Given the description of an element on the screen output the (x, y) to click on. 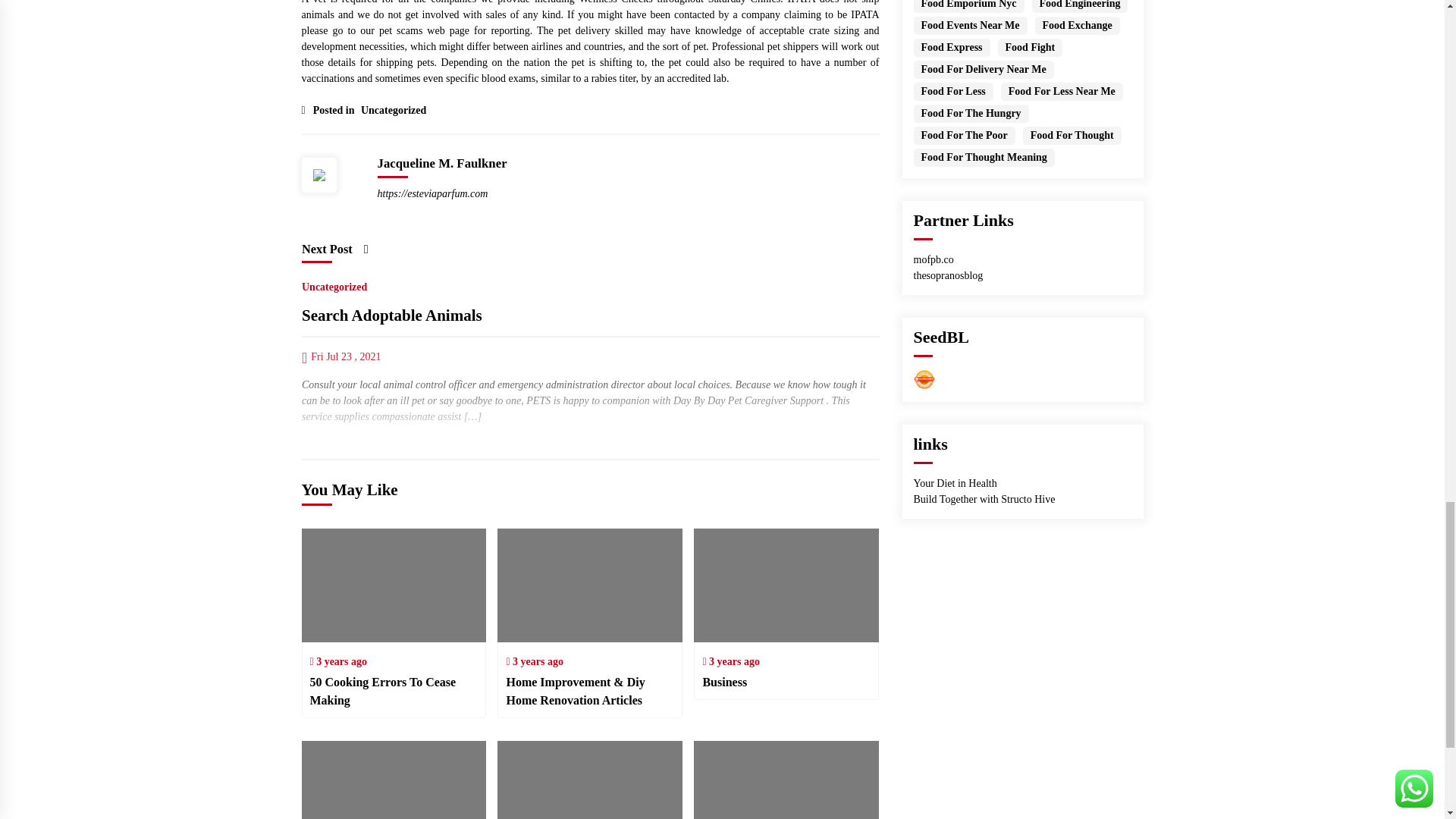
Seedbacklink (923, 379)
